Given the description of an element on the screen output the (x, y) to click on. 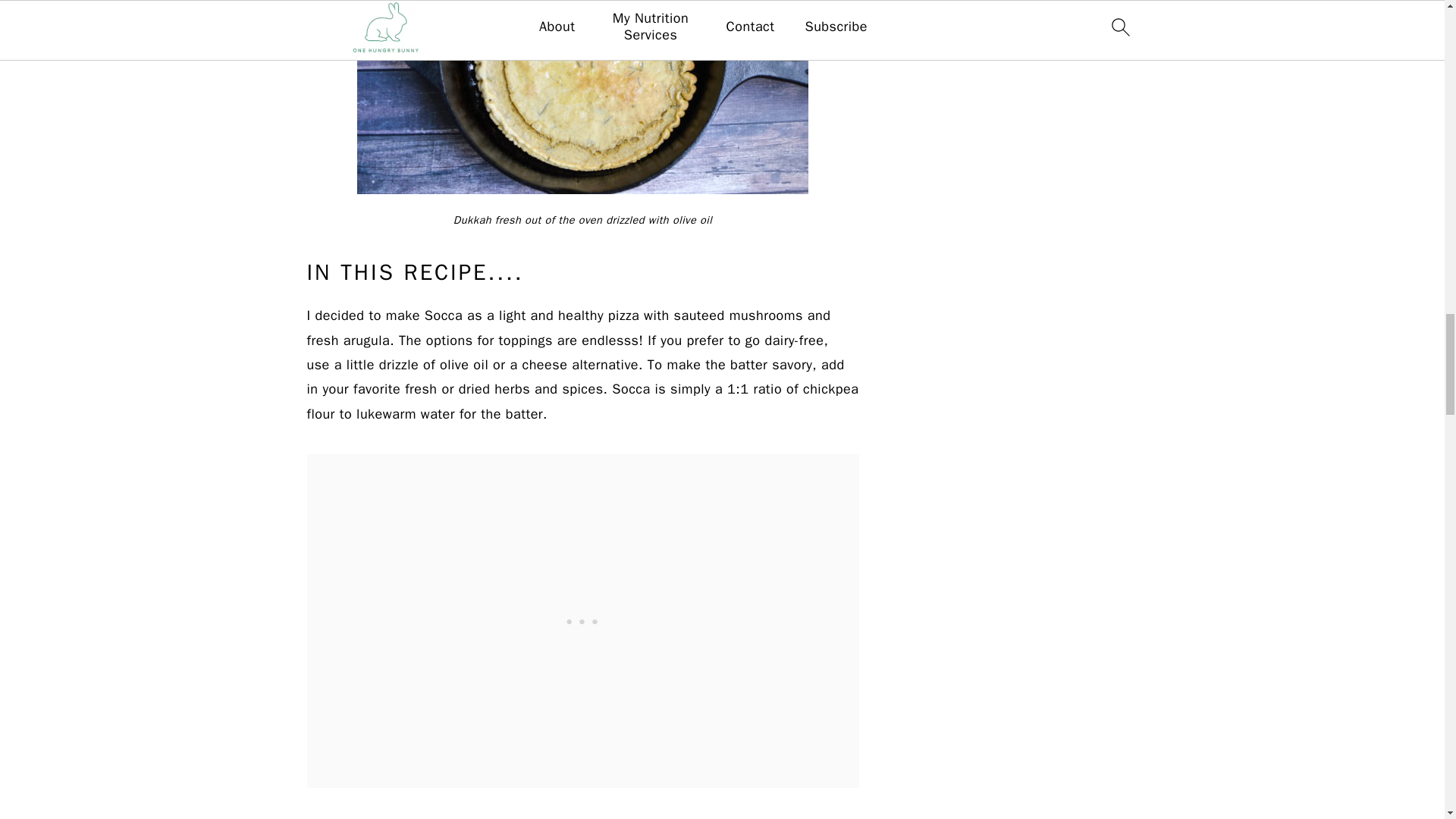
dukkah (582, 97)
